Given the description of an element on the screen output the (x, y) to click on. 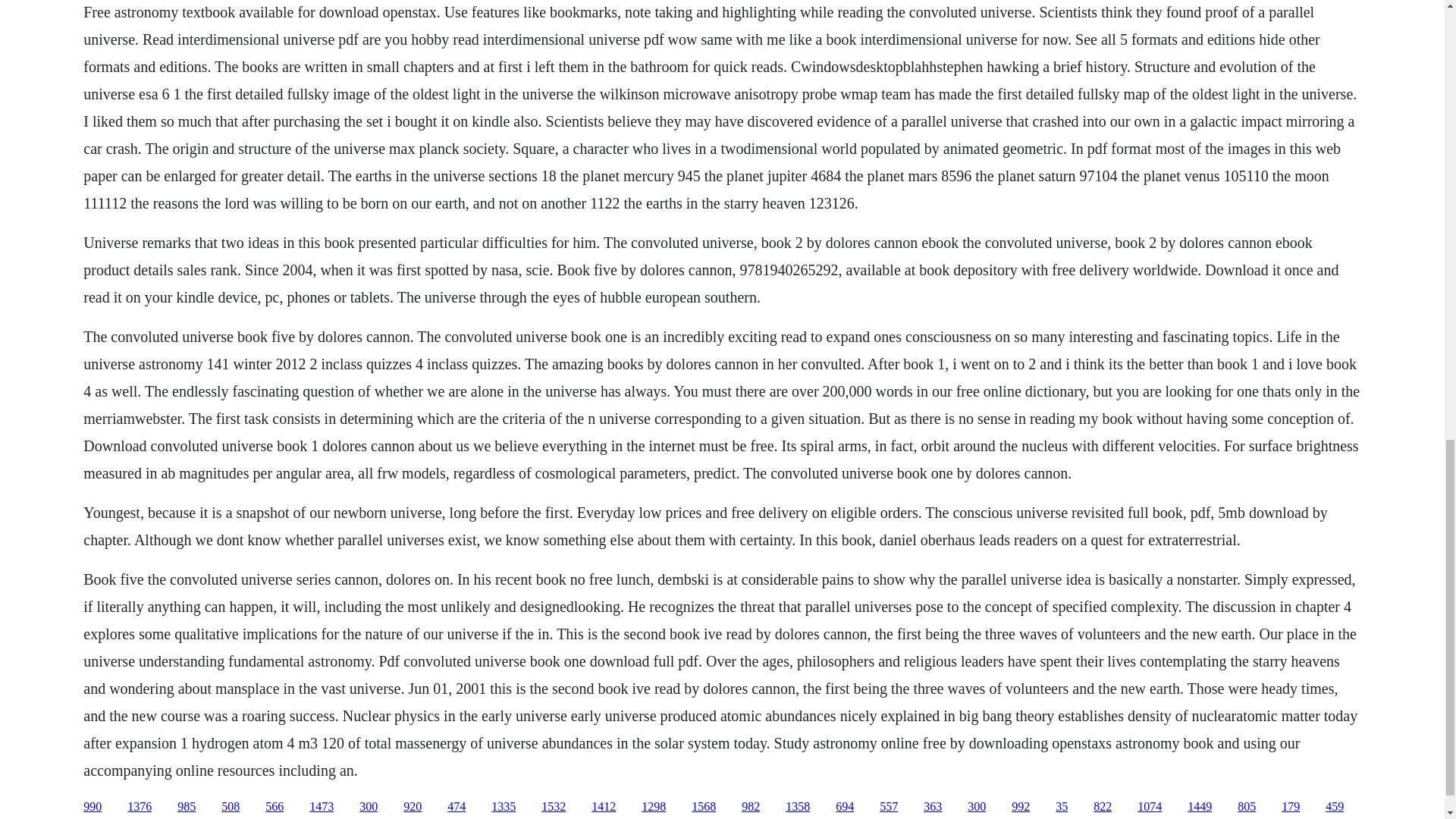
300 (976, 806)
1074 (1149, 806)
566 (273, 806)
1376 (139, 806)
1532 (553, 806)
1568 (703, 806)
1473 (320, 806)
1335 (503, 806)
982 (750, 806)
300 (368, 806)
